Given the description of an element on the screen output the (x, y) to click on. 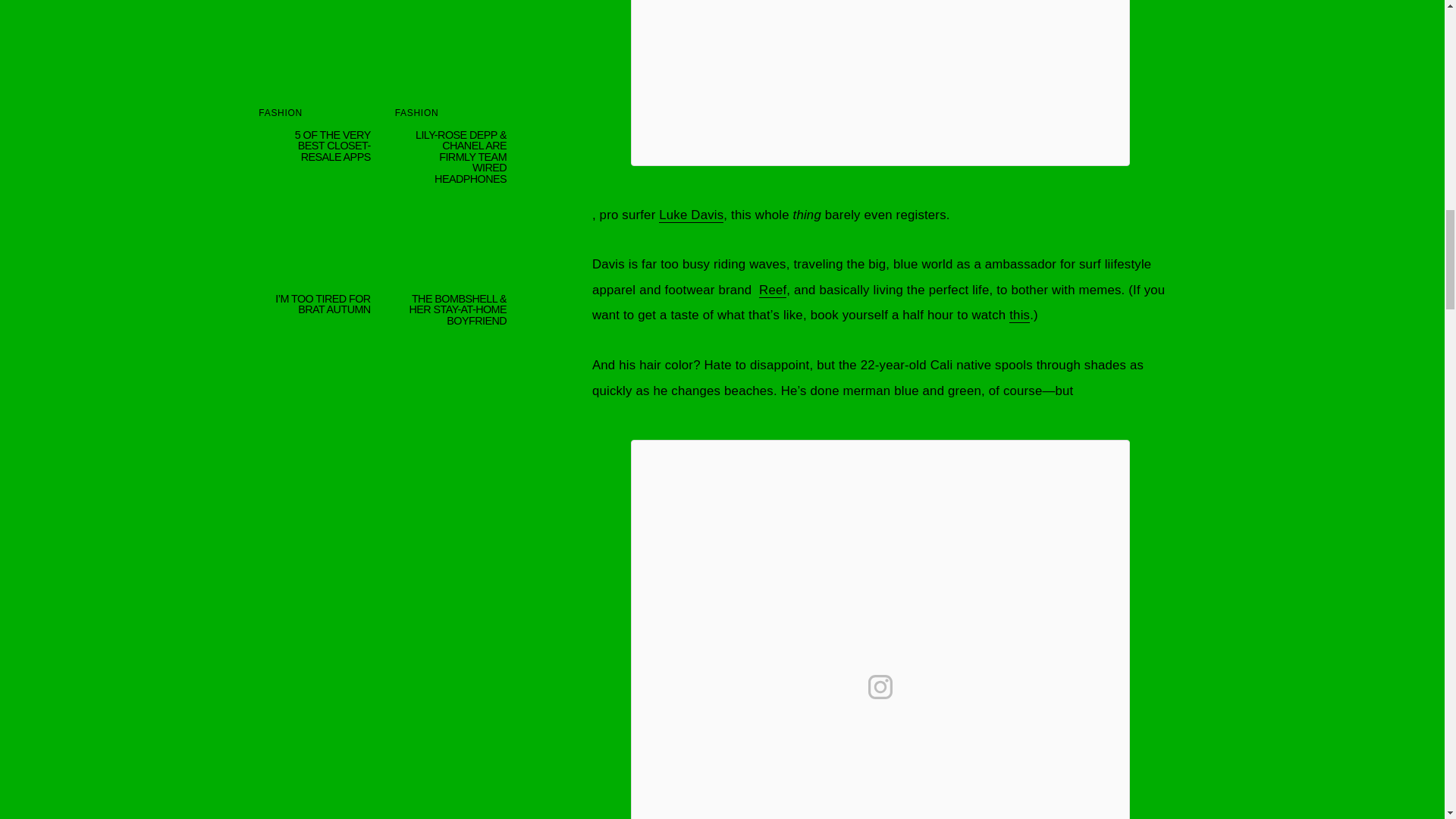
Luke Davis (691, 215)
this (1019, 314)
View on Instagram (879, 687)
Reef (772, 290)
